Given the description of an element on the screen output the (x, y) to click on. 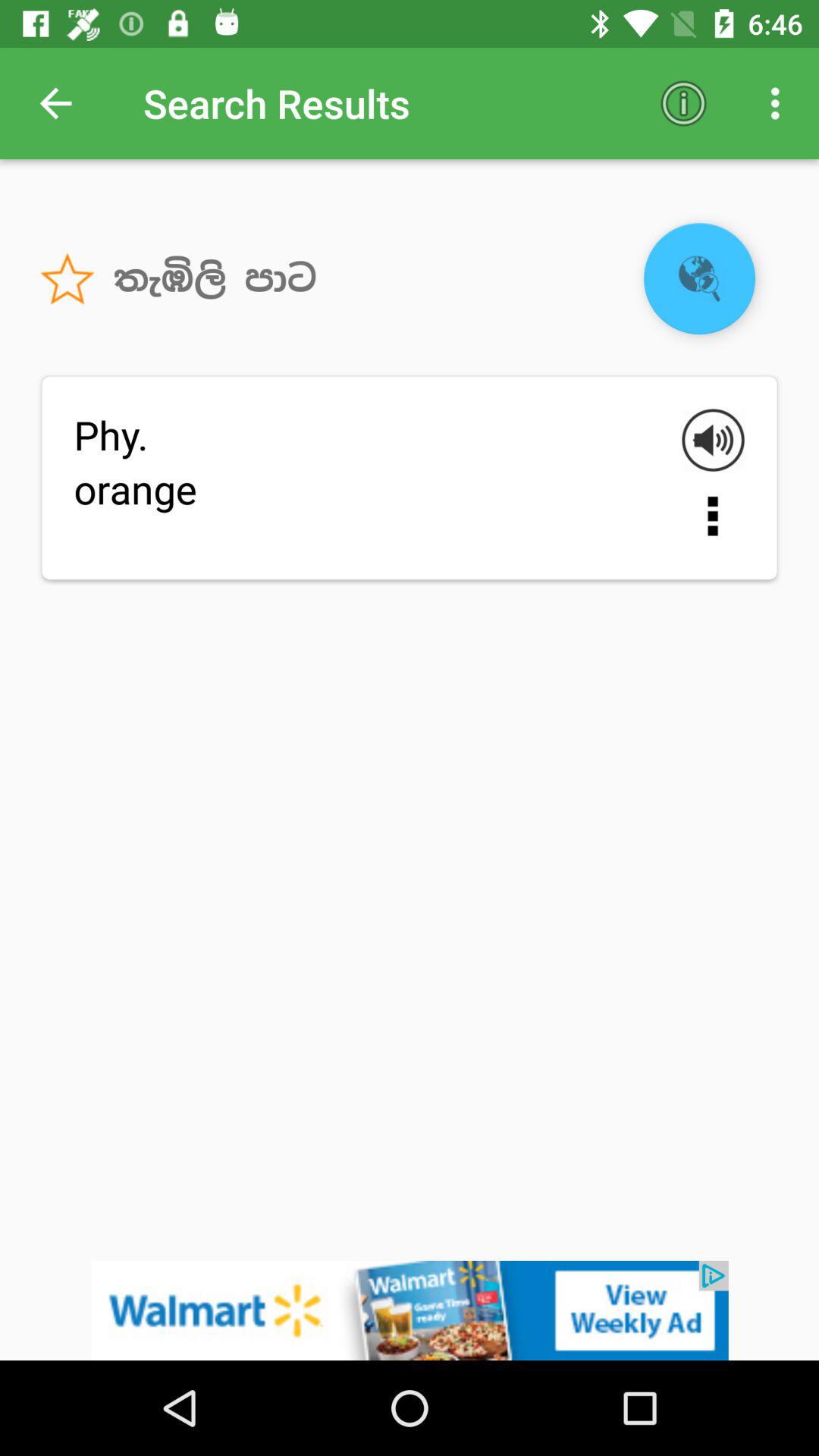
details about advertisement (409, 1310)
